Given the description of an element on the screen output the (x, y) to click on. 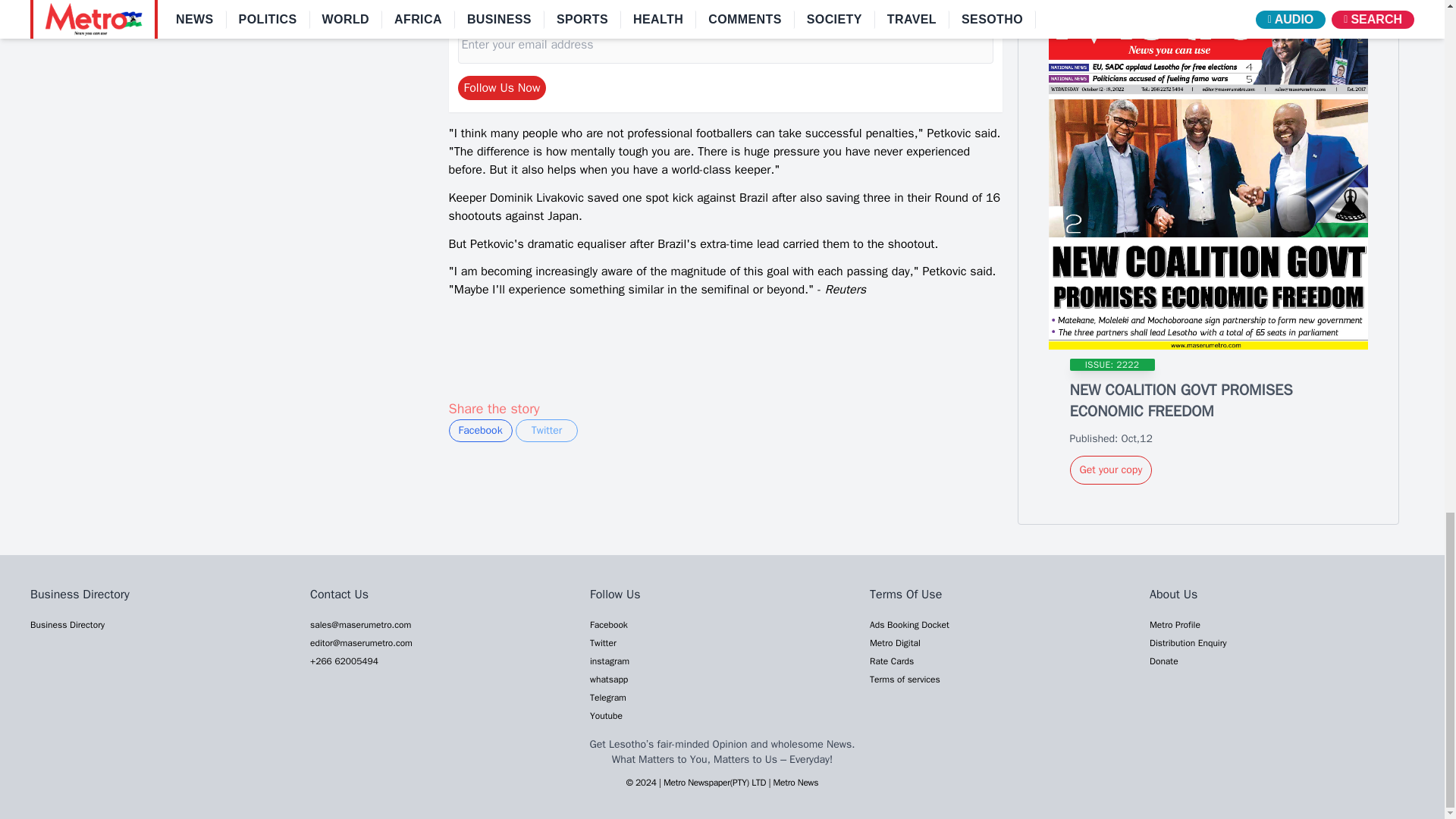
NEW COALITION GOVT  PROMISES ECONOMIC FREEDOM (1208, 174)
Follow Us Now (502, 87)
Facebook (480, 430)
Twitter (546, 430)
Facebook (480, 430)
Created by Headway (714, 782)
